Given the description of an element on the screen output the (x, y) to click on. 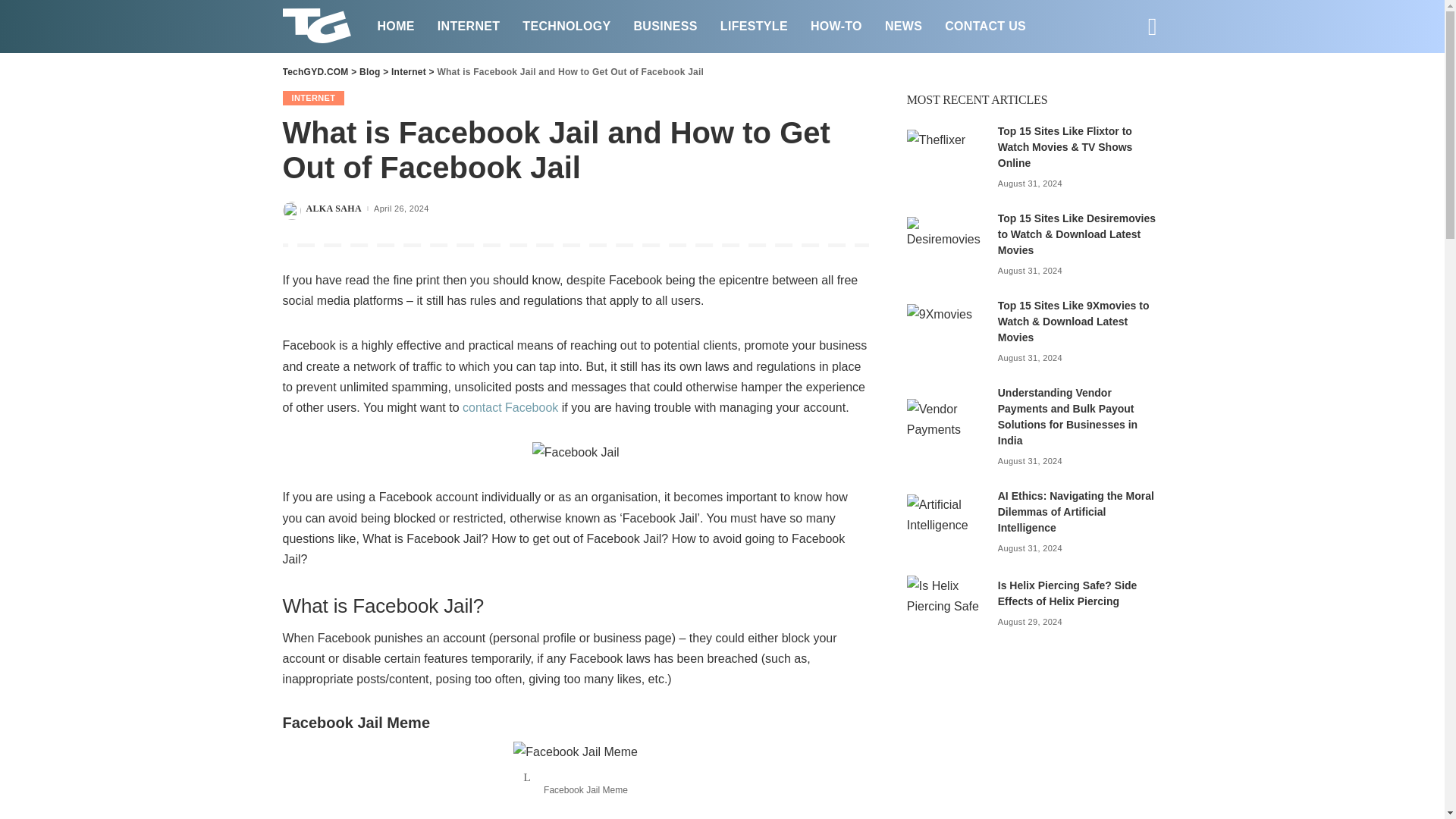
TECHNOLOGY (566, 26)
Go to Blog. (369, 71)
HOME (395, 26)
Go to the Internet Category archives. (408, 71)
TechGYD.COM (317, 26)
INTERNET (469, 26)
Go to TechGYD.COM. (314, 71)
